Given the description of an element on the screen output the (x, y) to click on. 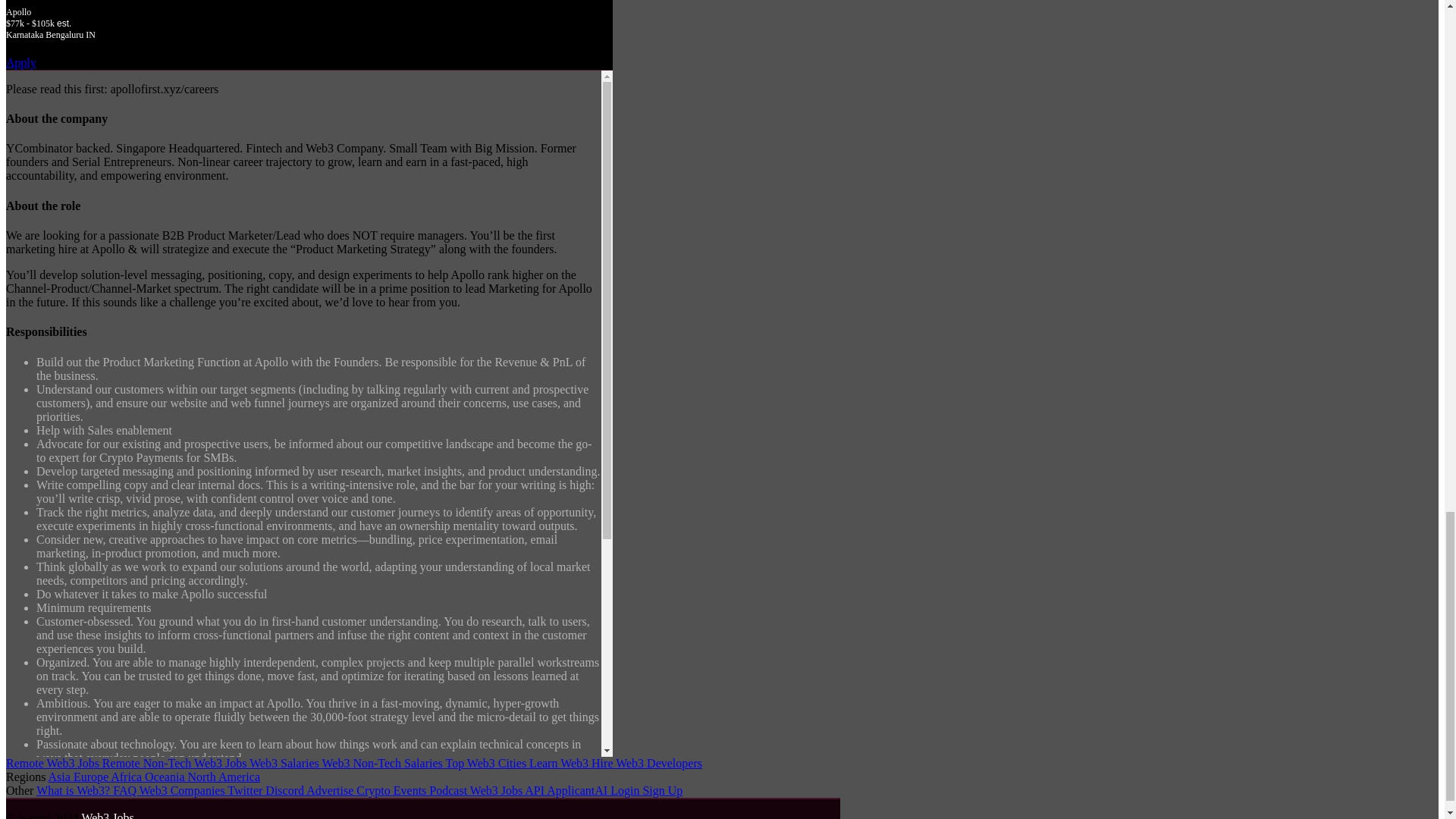
Estimated compensation based on similar jobs (308, 23)
